Given the description of an element on the screen output the (x, y) to click on. 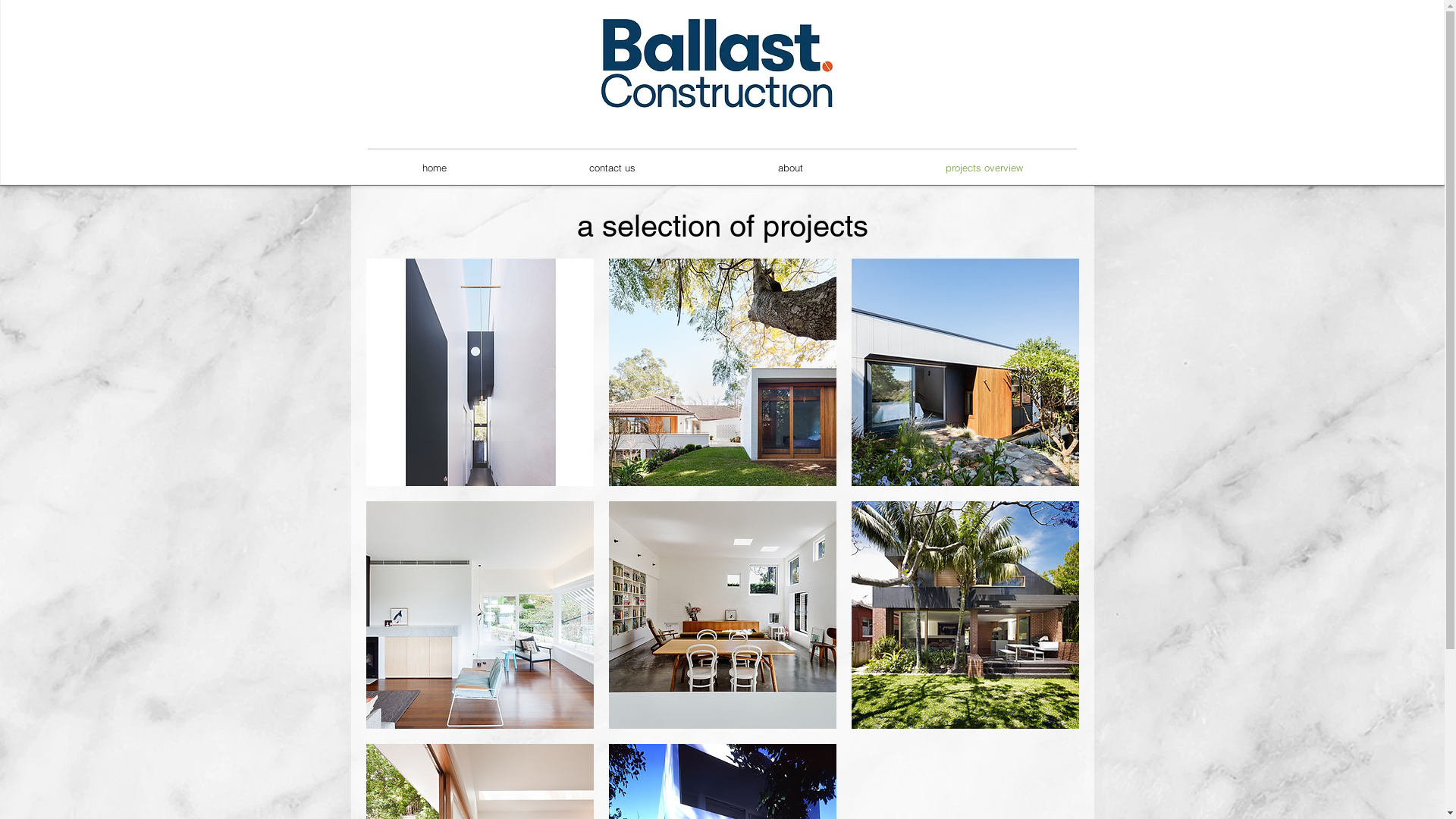
about Element type: text (790, 167)
home Element type: text (433, 167)
projects overview Element type: text (983, 167)
contact us Element type: text (611, 167)
